Given the description of an element on the screen output the (x, y) to click on. 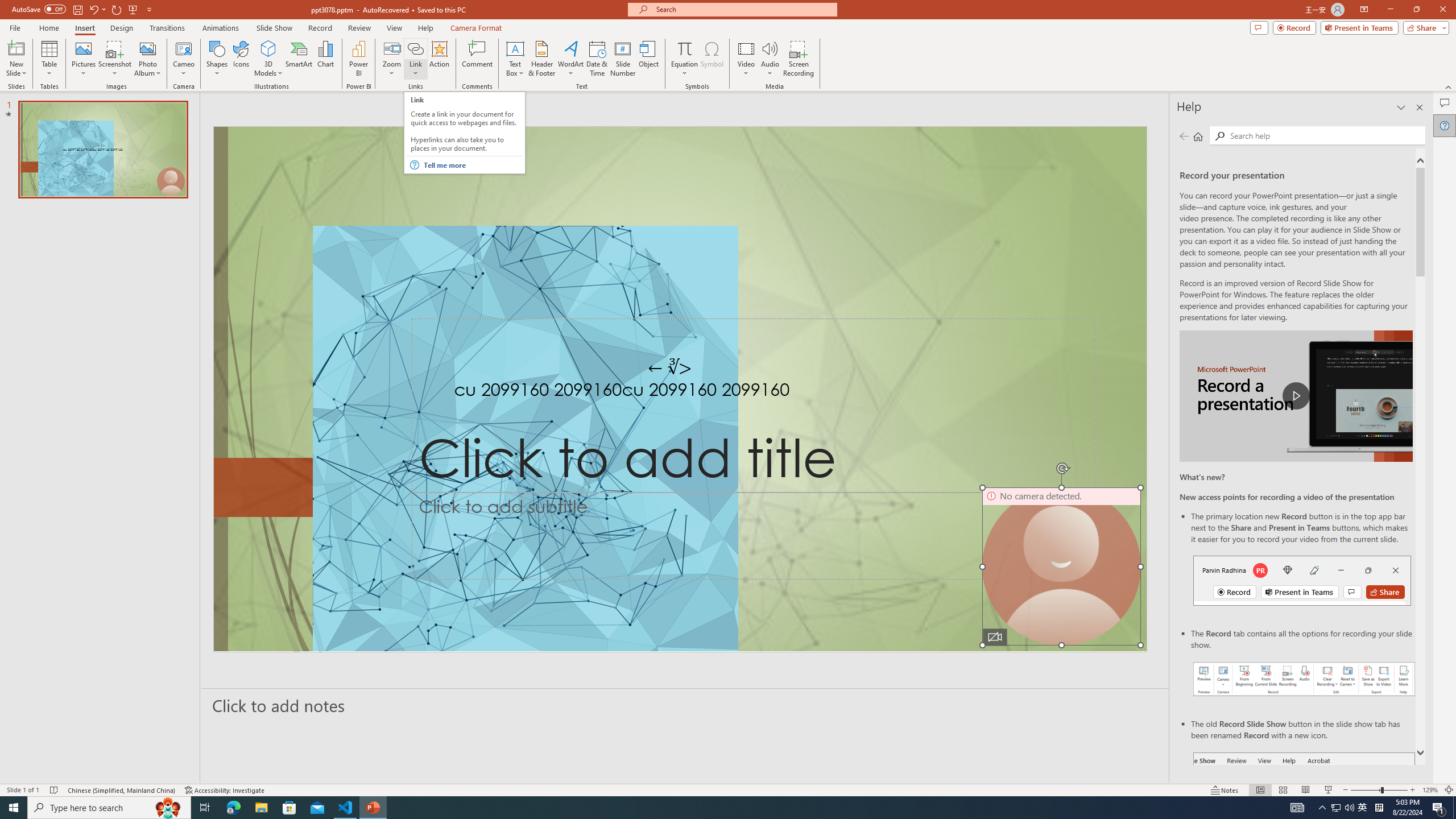
Power BI (358, 58)
Undo (96, 9)
Close pane (1419, 107)
Cameo (183, 48)
Save (77, 9)
Minimize (1390, 9)
Customize Quick Access Toolbar (149, 9)
Share (1423, 27)
Normal (1260, 790)
Home (48, 28)
Present in Teams (1359, 27)
Text Box (515, 58)
Task Pane Options (1400, 107)
Cameo (183, 58)
